Given the description of an element on the screen output the (x, y) to click on. 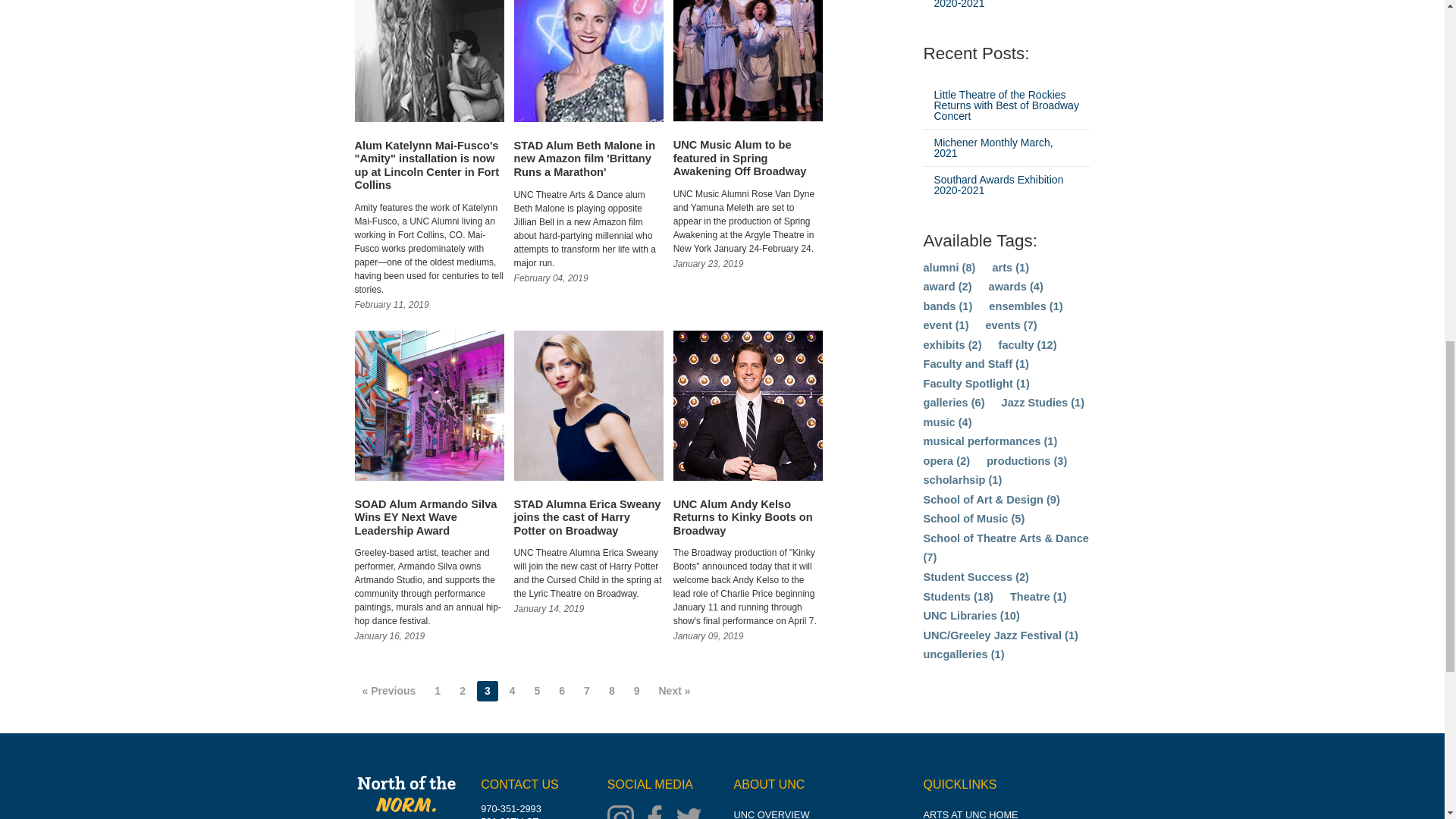
Twitter (692, 811)
Facebook (658, 811)
Instagram (624, 811)
Arts at UNC Home (970, 814)
